Given the description of an element on the screen output the (x, y) to click on. 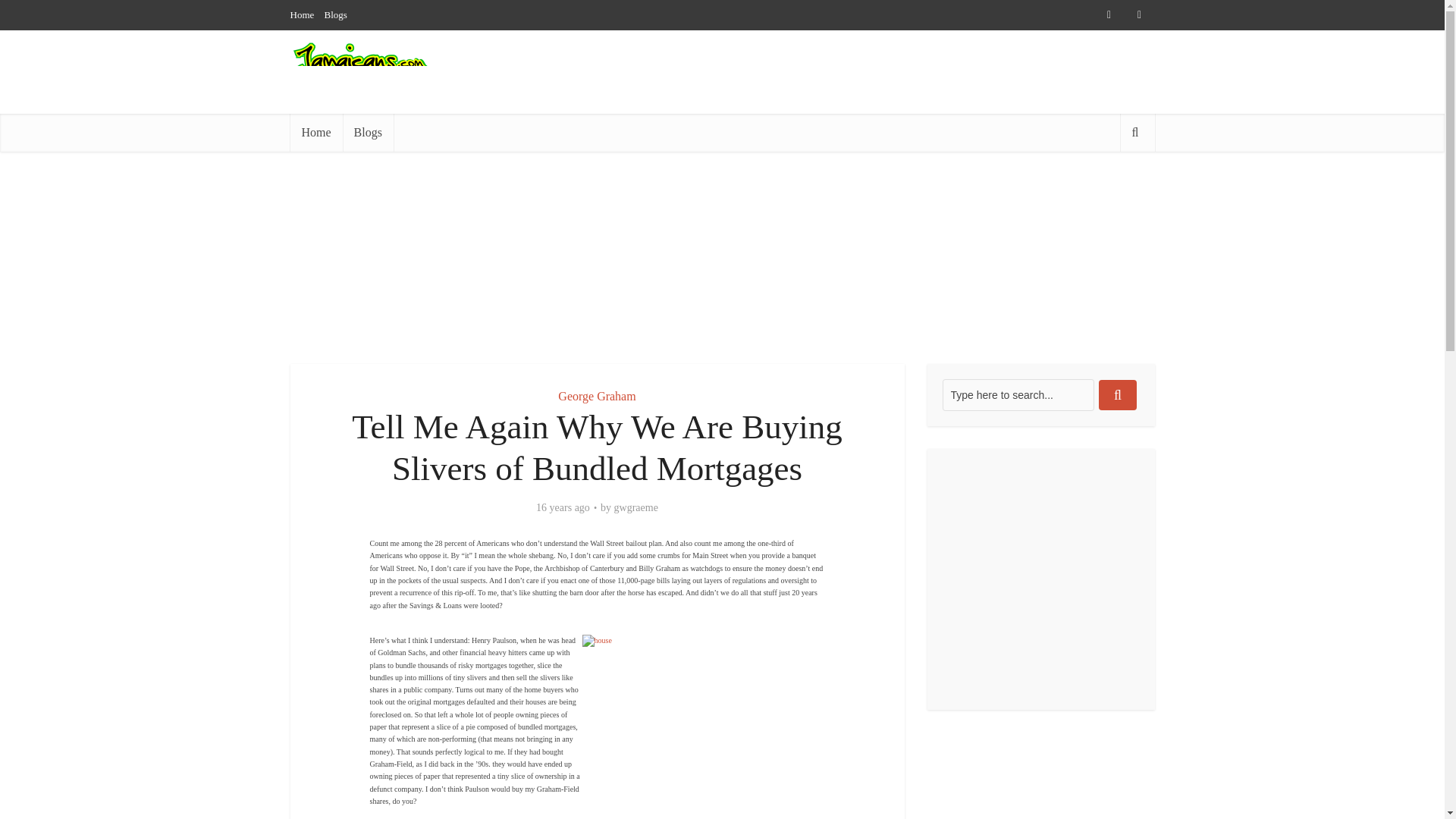
Blogs (367, 132)
Blogs (335, 14)
Home (301, 14)
George Graham (595, 395)
Type here to search... (1017, 395)
Home (315, 132)
Type here to search... (1017, 395)
gwgraeme (636, 508)
